Given the description of an element on the screen output the (x, y) to click on. 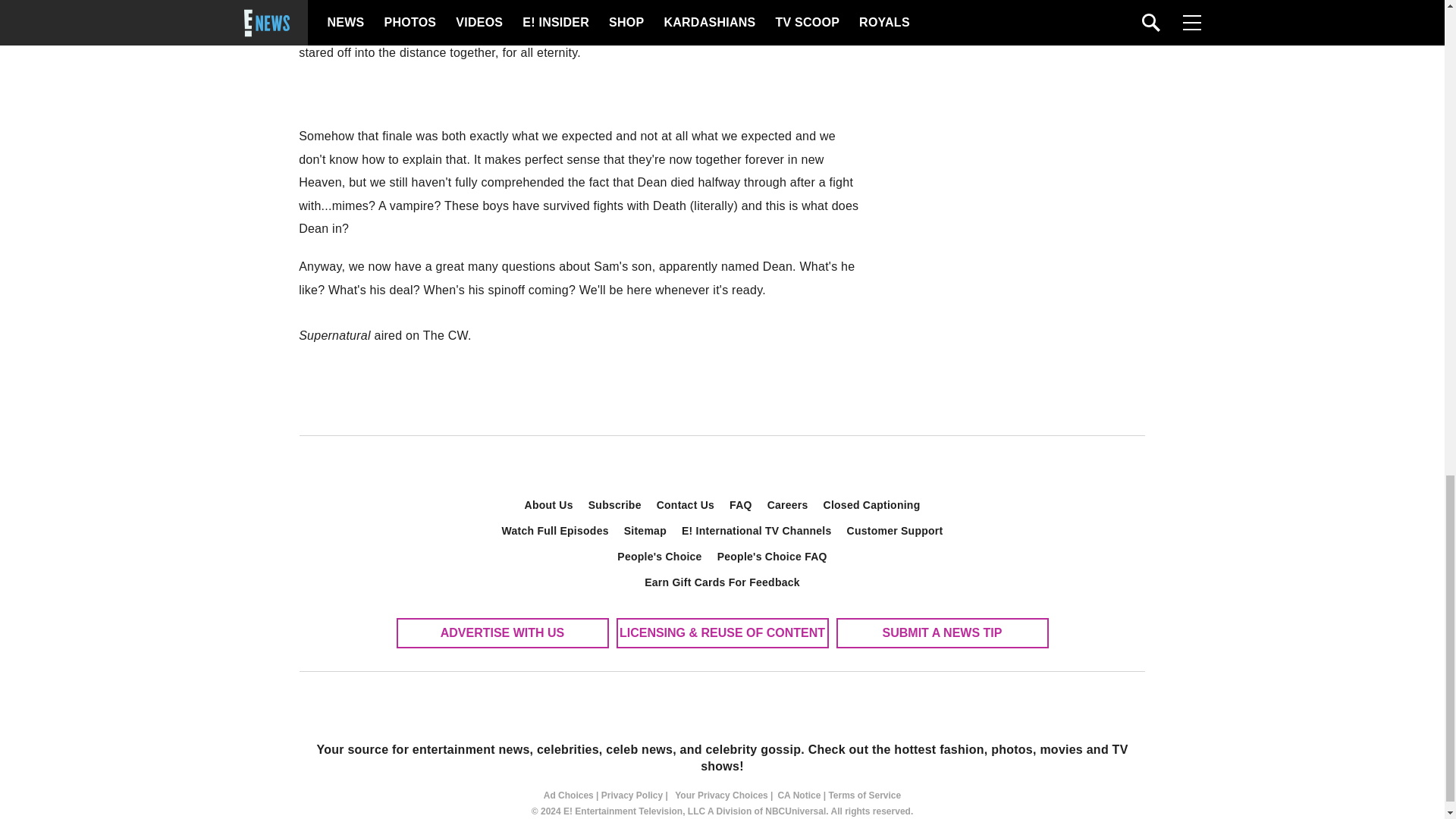
About Us (548, 504)
Subscribe (614, 504)
Contact Us (685, 504)
